Given the description of an element on the screen output the (x, y) to click on. 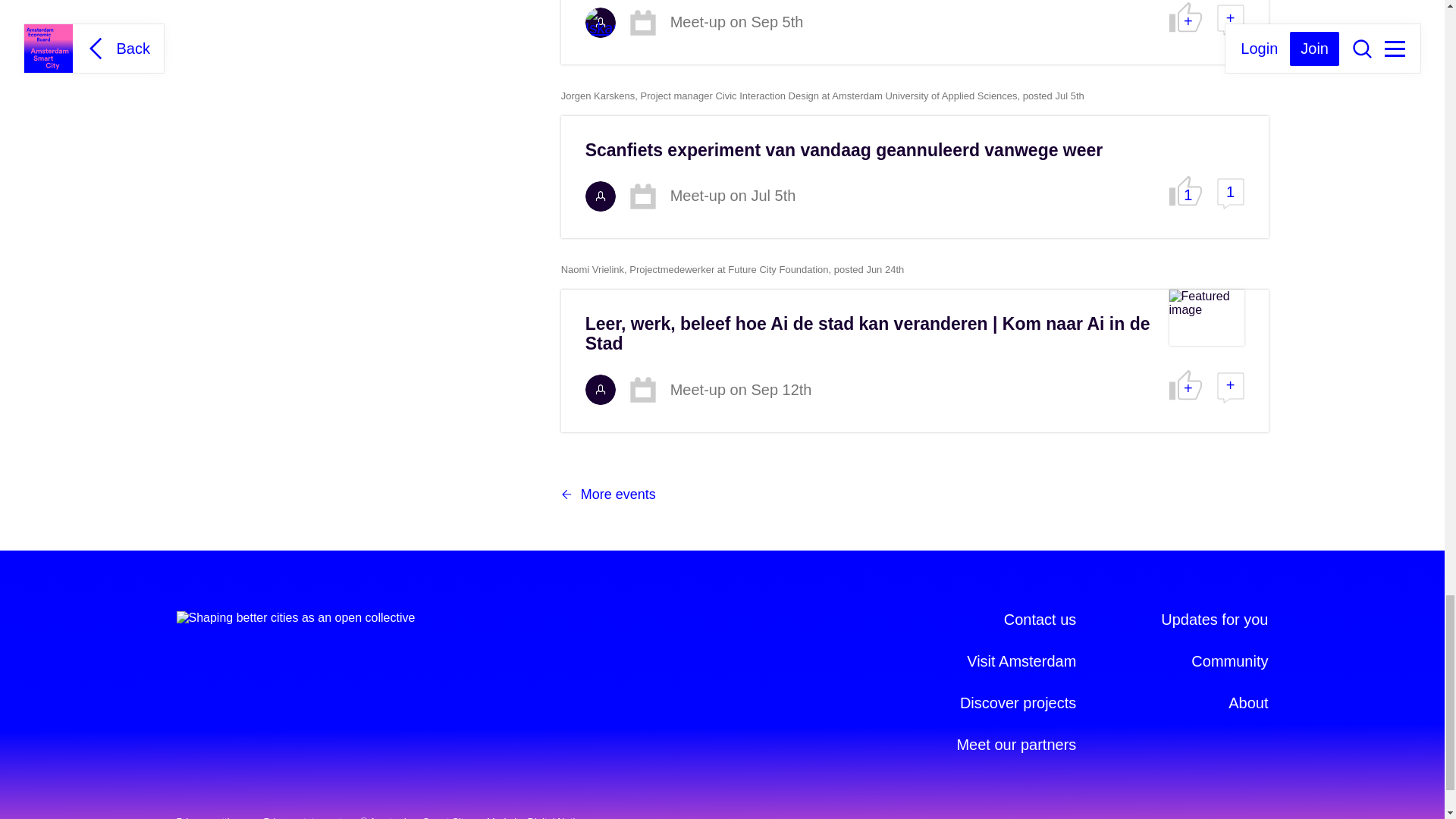
Iskander Smit (600, 22)
